Given the description of an element on the screen output the (x, y) to click on. 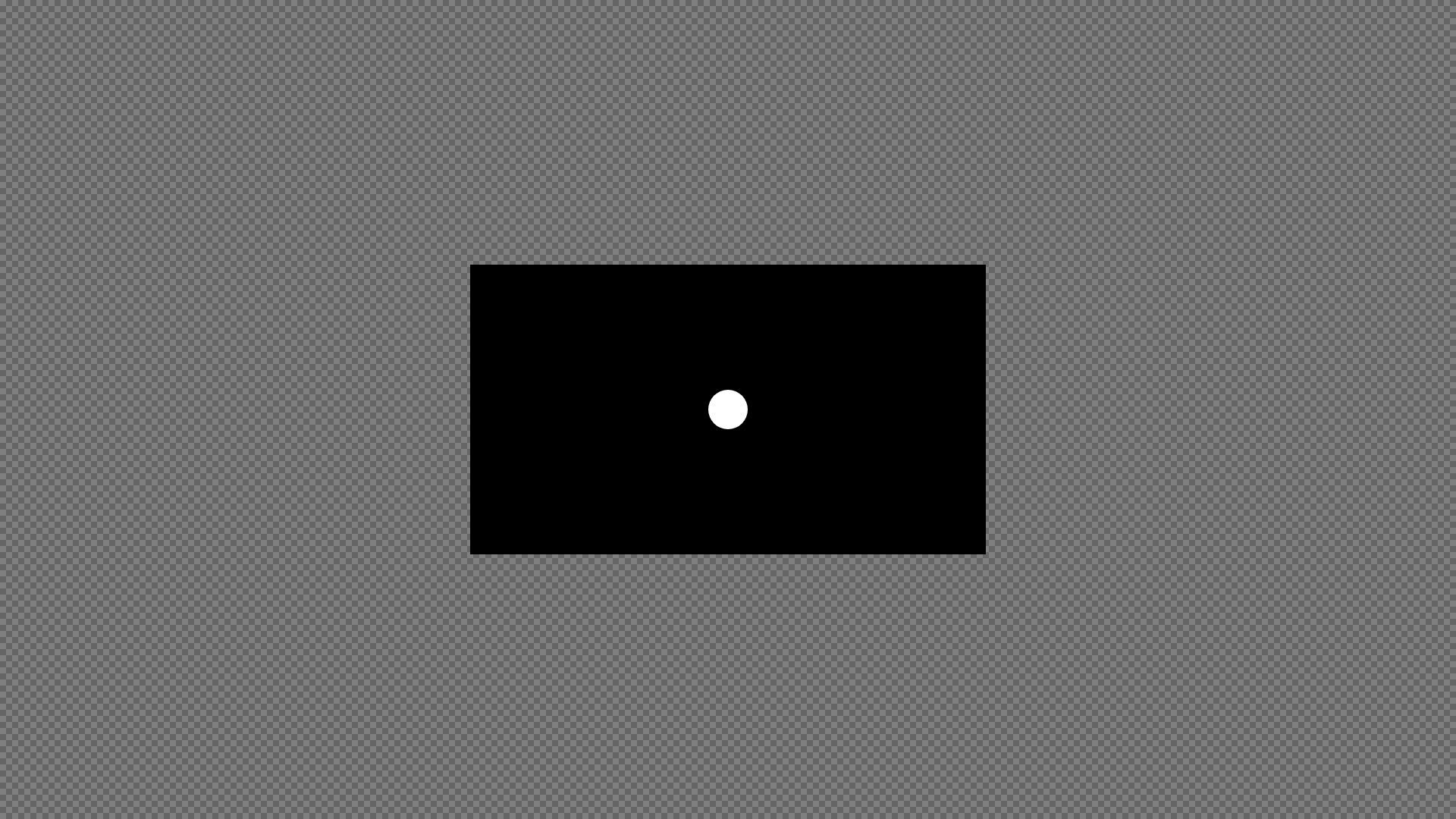
youtube Video Player Element type: hover (727, 409)
